Given the description of an element on the screen output the (x, y) to click on. 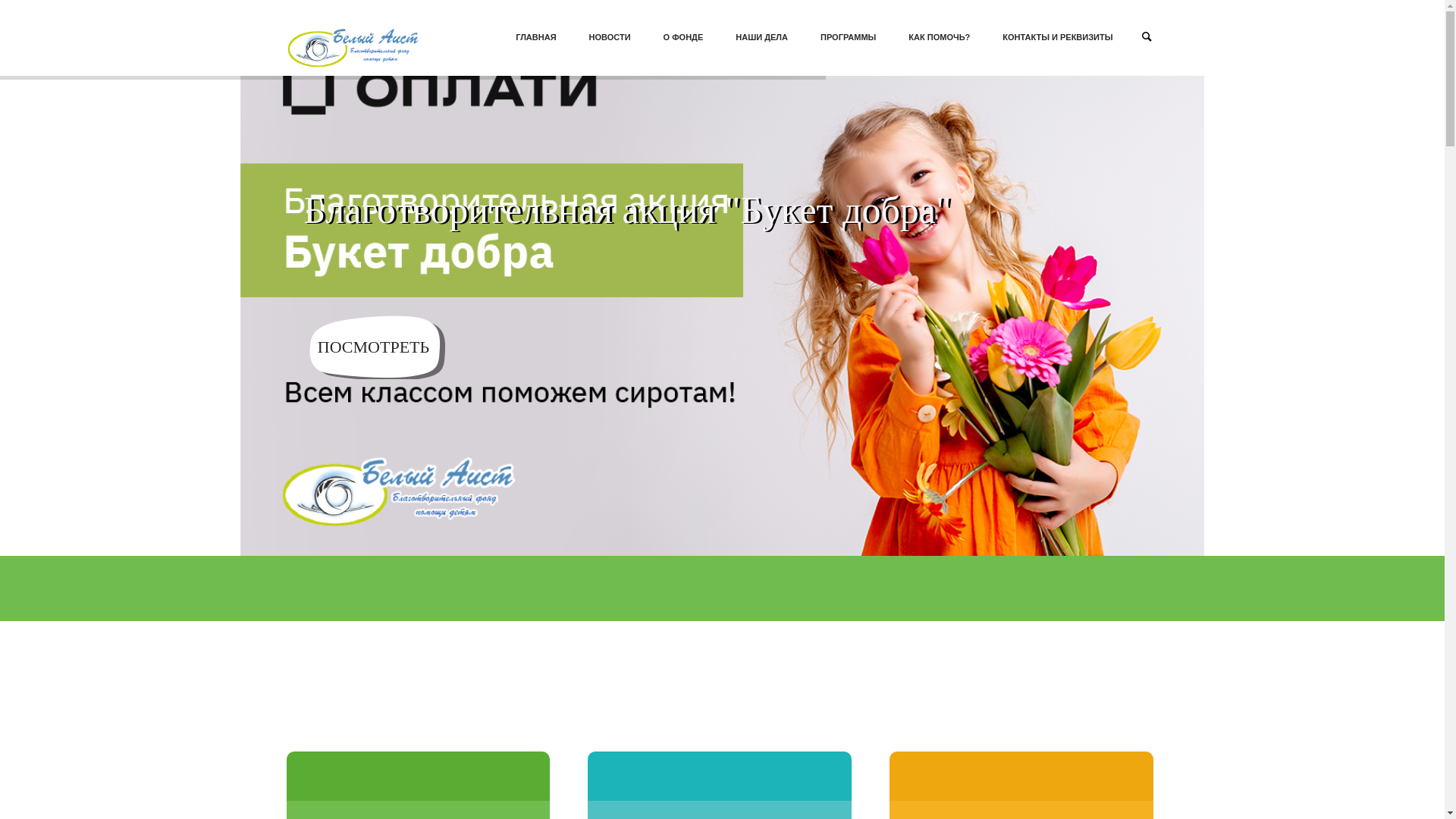
Open/close search form Element type: hover (1146, 36)
